Given the description of an element on the screen output the (x, y) to click on. 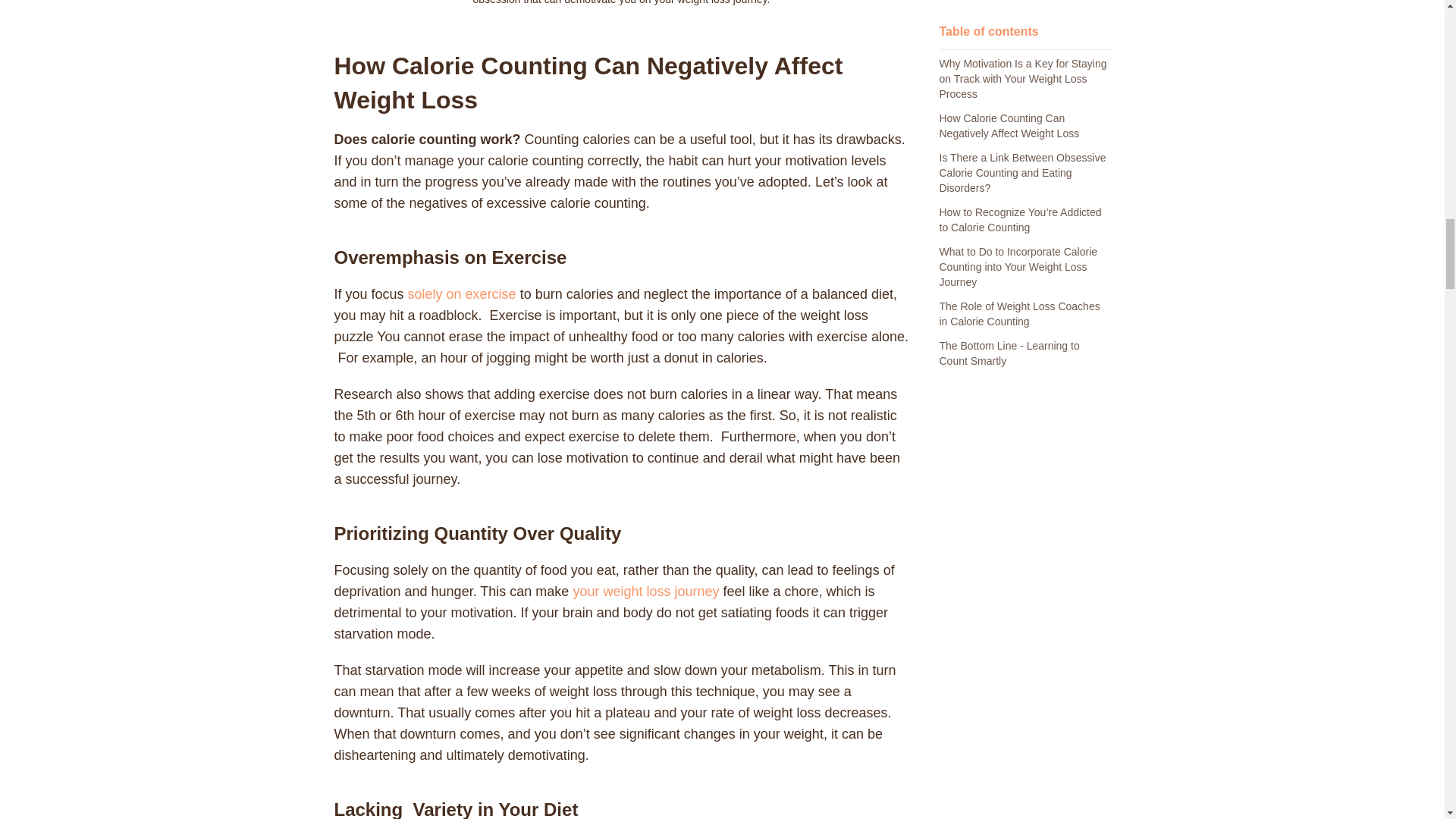
solely on exercise (461, 294)
your weight loss journey (645, 590)
